Given the description of an element on the screen output the (x, y) to click on. 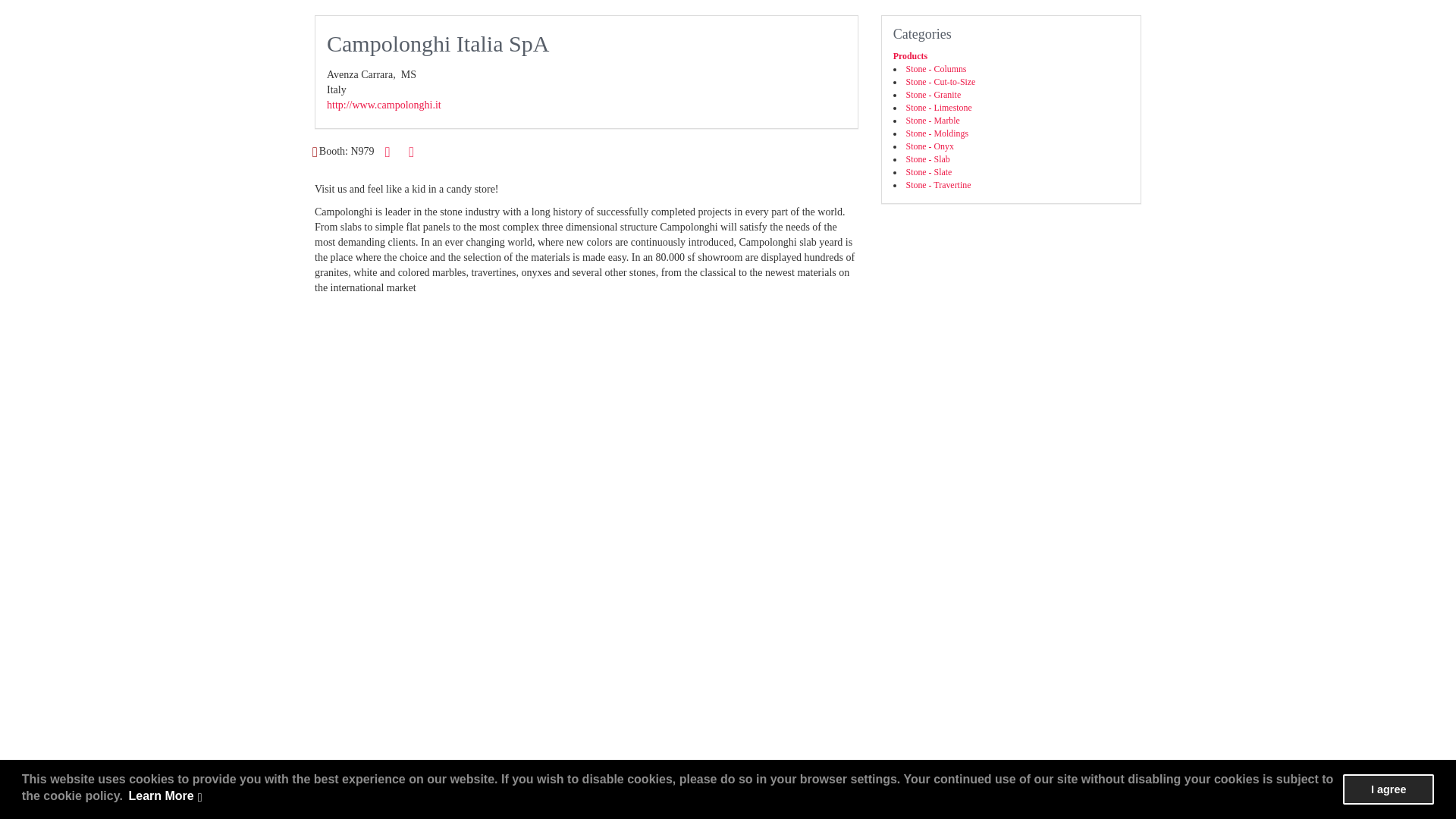
Print (387, 151)
Stone - Columns (935, 68)
Stone - Cut-to-Size (940, 81)
Stone - Slab (927, 158)
Stone - Moldings (937, 132)
Stone - Marble (932, 120)
Add To My Exhibitors (411, 152)
Stone - Granite (932, 94)
Stone - Limestone (938, 107)
Stone - Onyx (929, 145)
Products (910, 55)
Stone - Travertine (938, 184)
Stone - Slate (928, 172)
Map It (315, 152)
